Given the description of an element on the screen output the (x, y) to click on. 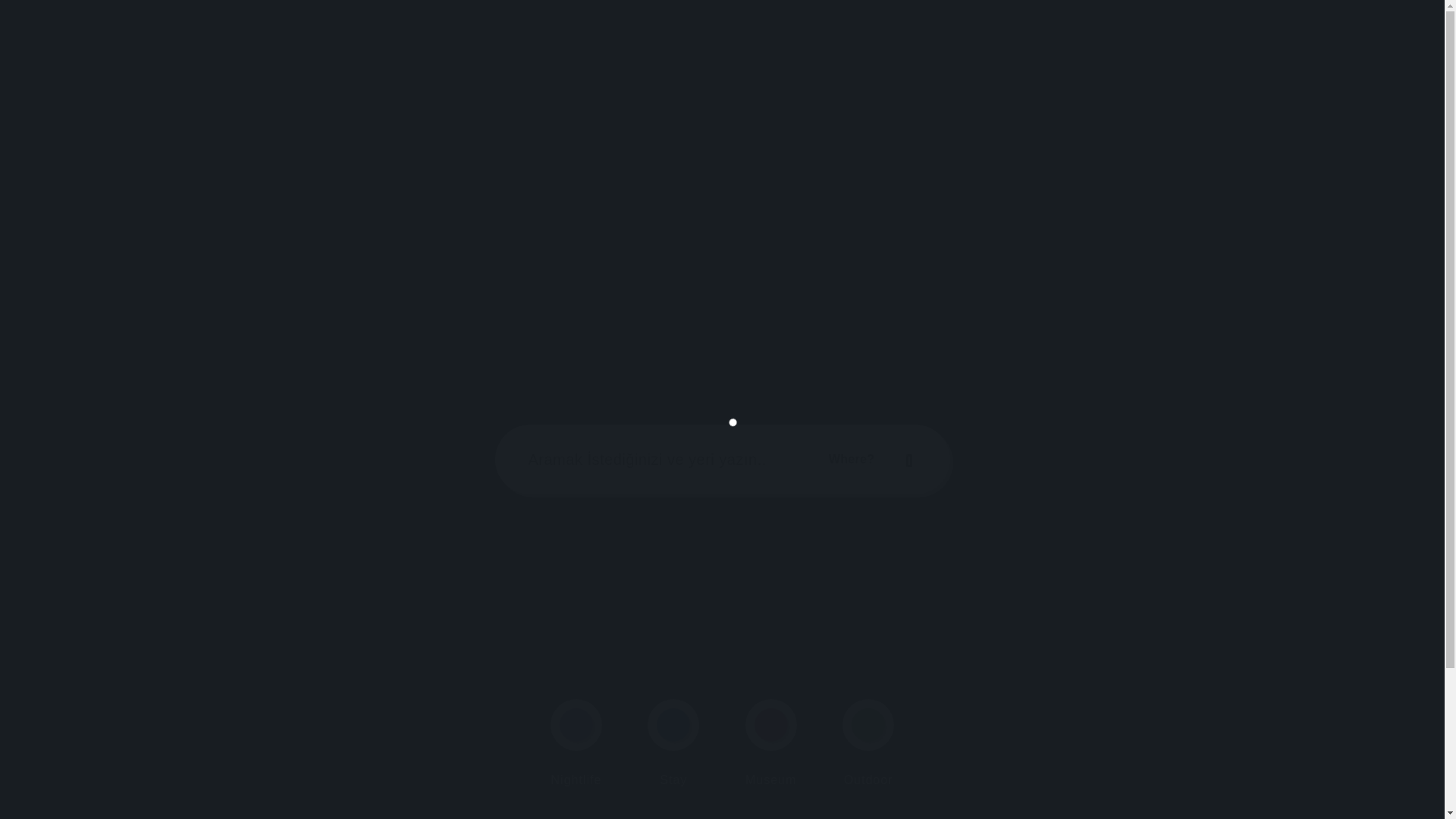
Stay Element type: text (672, 741)
Where? Element type: text (872, 459)
Nightlife Element type: text (575, 741)
Outdoor Element type: text (867, 741)
  Element type: text (912, 459)
Museum Element type: text (770, 741)
